Given the description of an element on the screen output the (x, y) to click on. 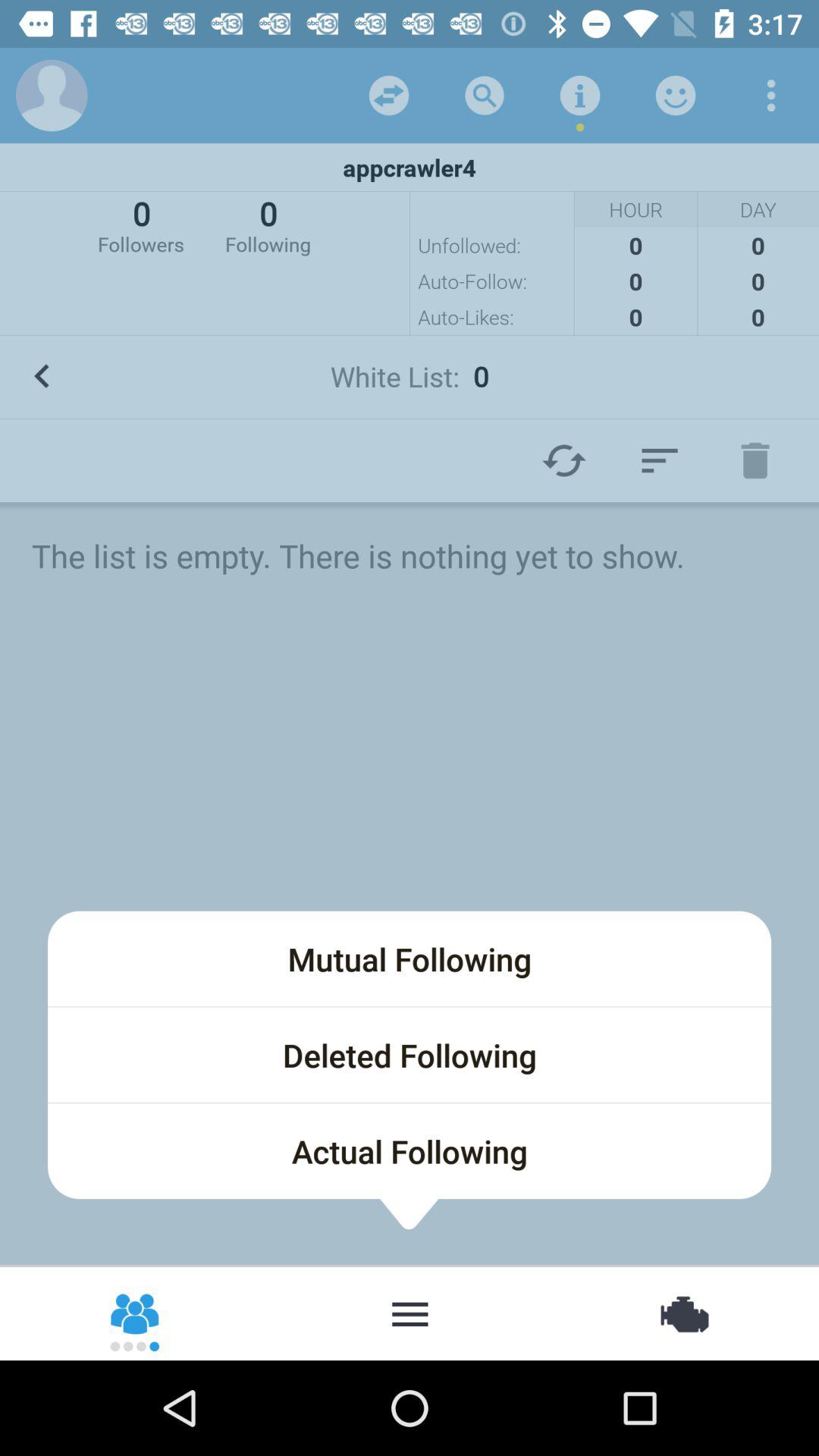
about user (675, 95)
